Given the description of an element on the screen output the (x, y) to click on. 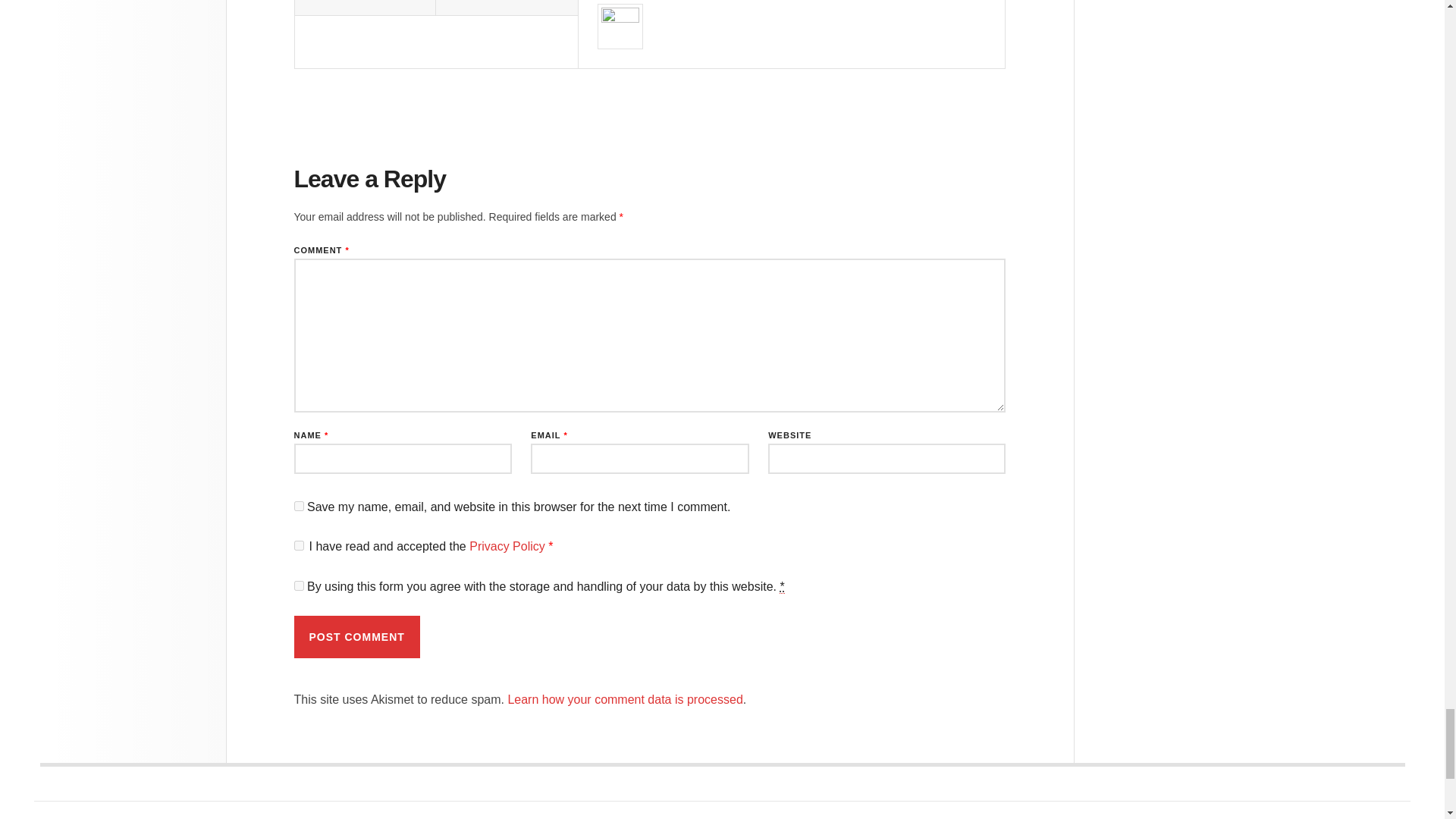
Previous Post (364, 7)
yes (299, 506)
policy-key (299, 545)
Post Comment (357, 636)
1 (299, 585)
